Given the description of an element on the screen output the (x, y) to click on. 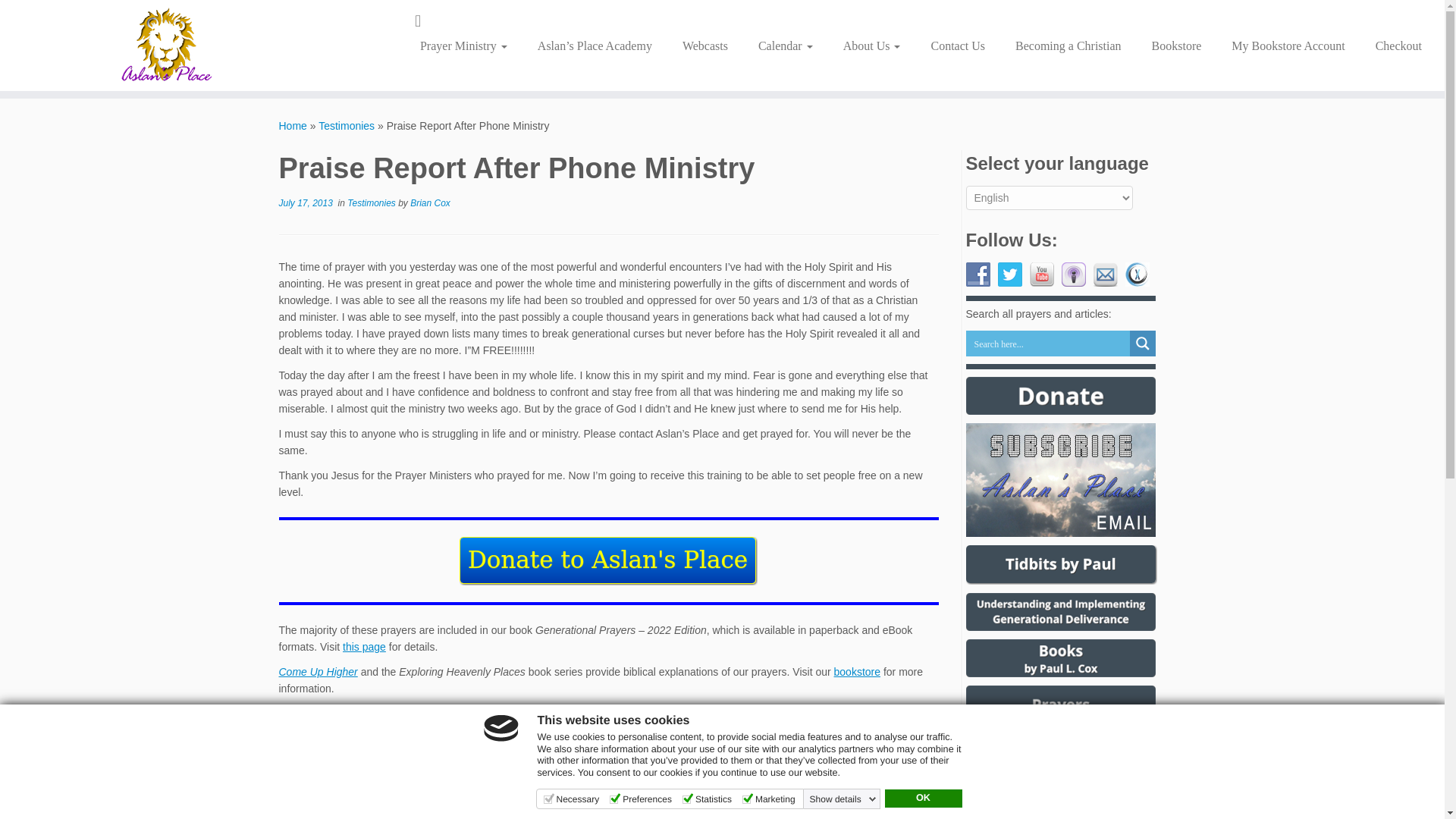
Show details (842, 799)
OK (921, 798)
